Given the description of an element on the screen output the (x, y) to click on. 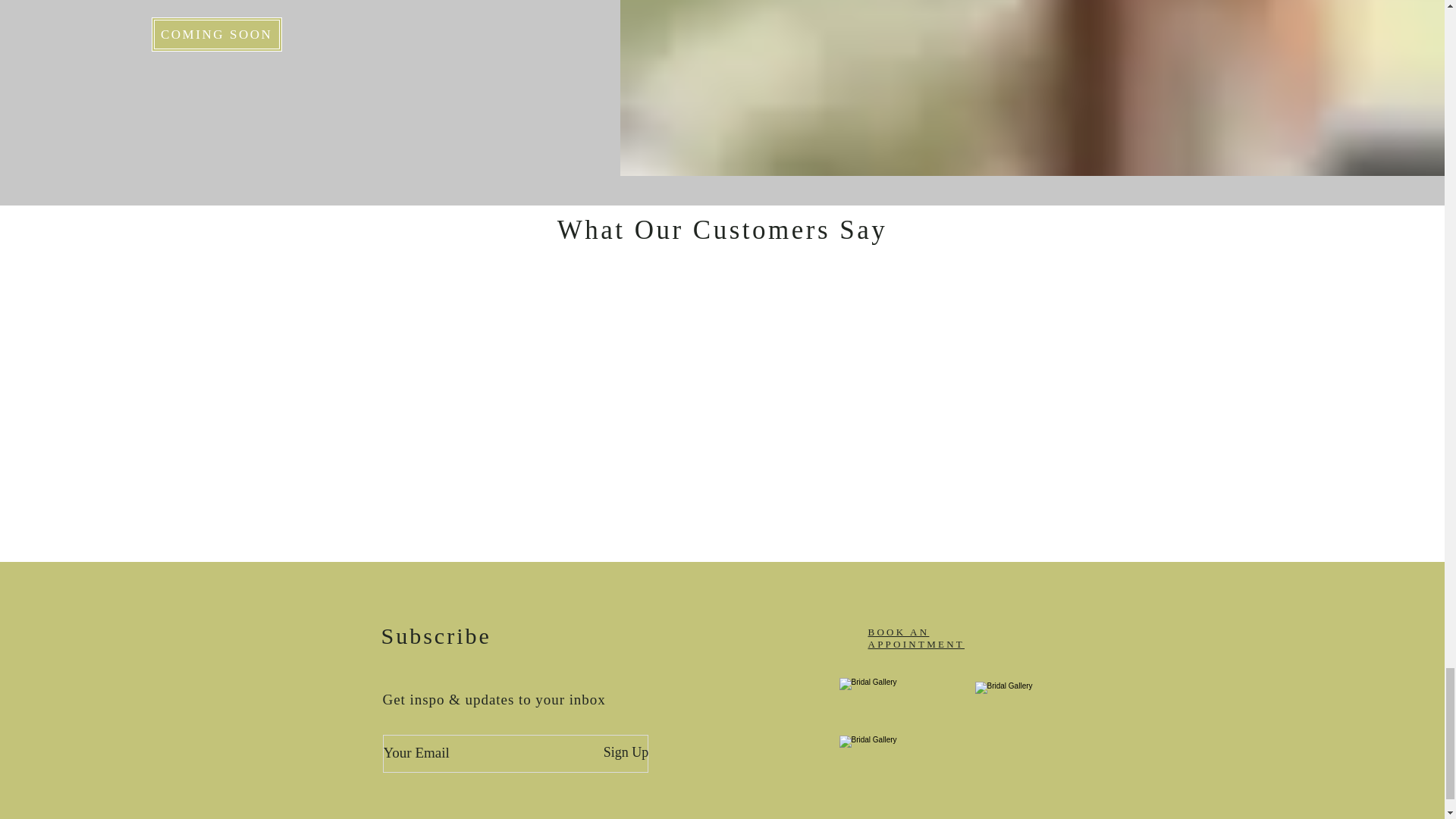
Sign Up (625, 752)
COMING SOON (216, 34)
BOOK AN APPOINTMENT (915, 638)
